Given the description of an element on the screen output the (x, y) to click on. 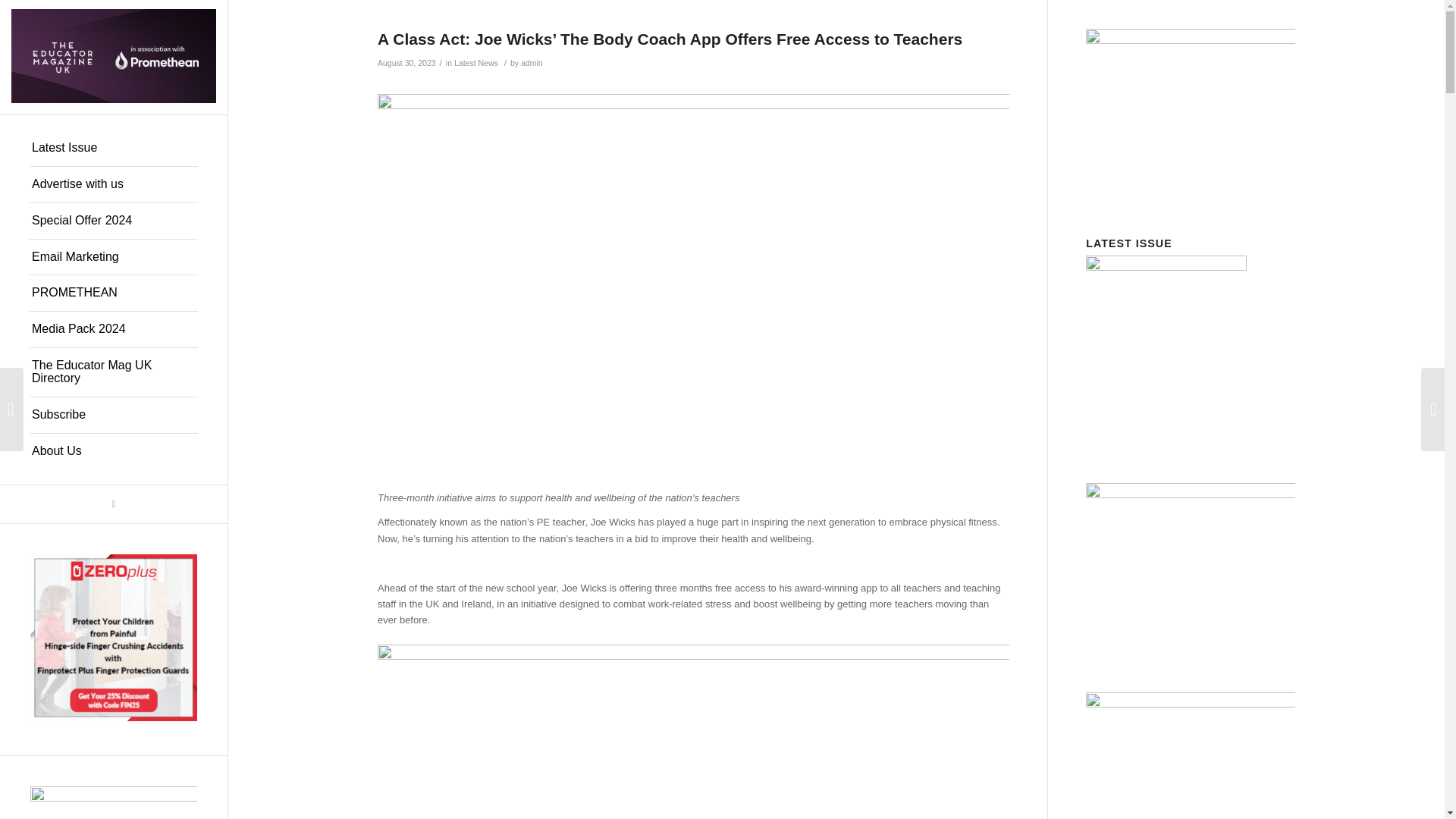
Posts by admin (532, 62)
Twitter (113, 504)
About Us (113, 451)
Subscribe (113, 415)
Advertise with us (113, 185)
Email Marketing (113, 257)
Special Offer 2024 (113, 221)
The Educator Mag UK Directory (113, 372)
admin (532, 62)
Latest News (475, 62)
